Given the description of an element on the screen output the (x, y) to click on. 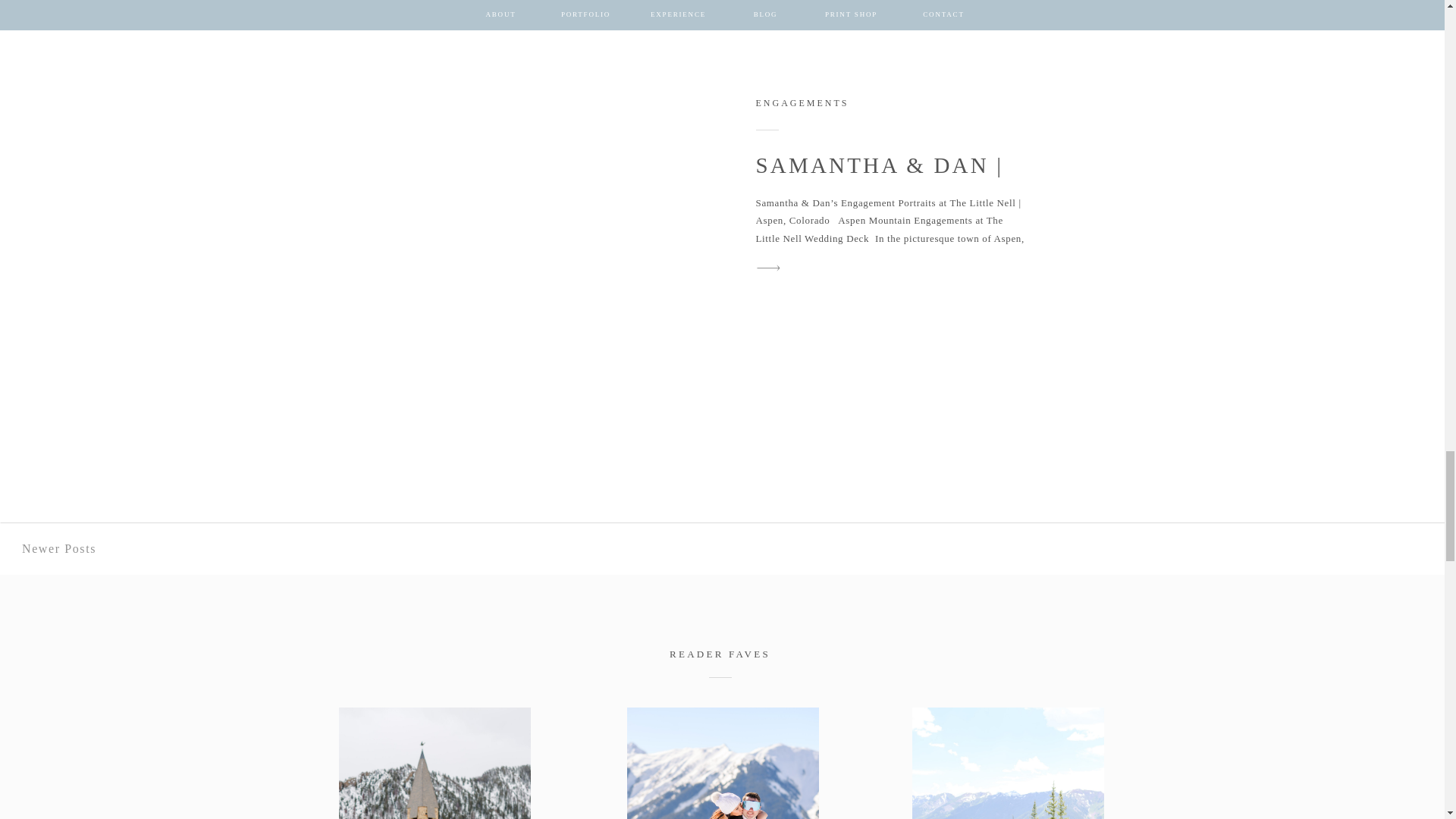
arrow (768, 268)
Reasons To Hire An Aspen Local As Your Photographer (1007, 763)
